Given the description of an element on the screen output the (x, y) to click on. 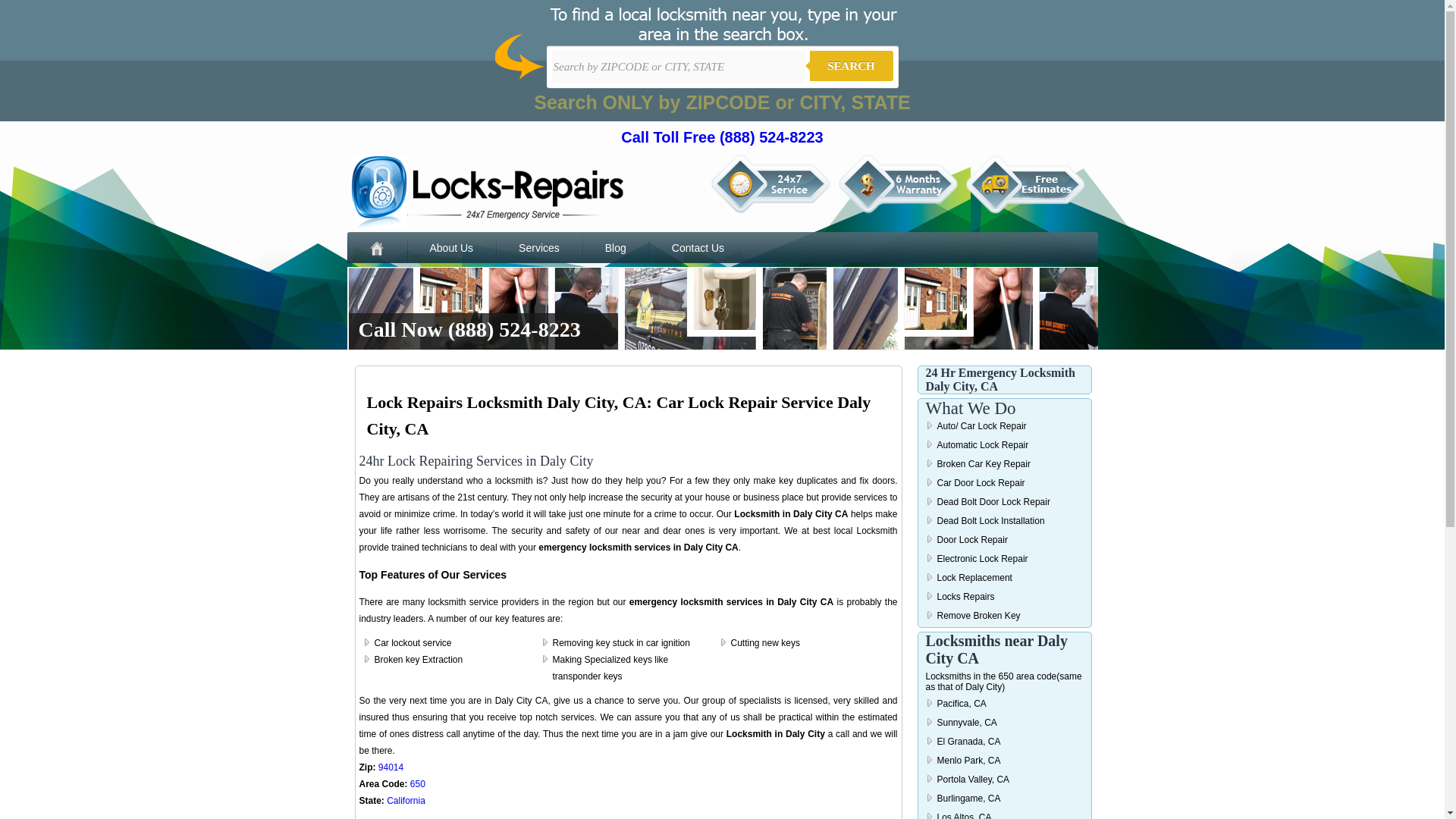
About Us (451, 247)
Contact Us (697, 247)
650 (417, 783)
SEARCH (851, 65)
California (406, 800)
Services (539, 247)
94014 (390, 767)
Blog (615, 247)
